Given the description of an element on the screen output the (x, y) to click on. 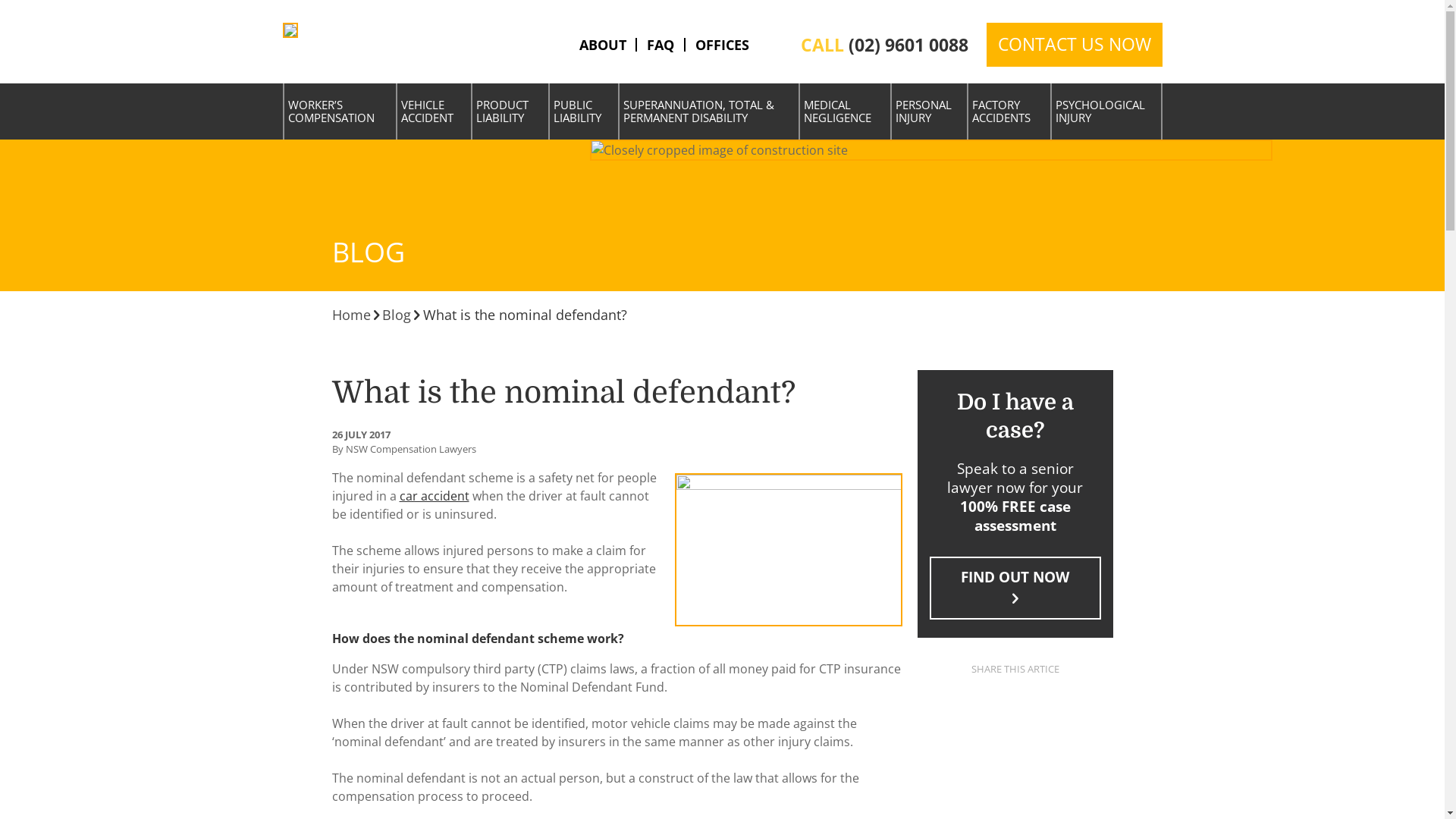
FACTORY ACCIDENTS Element type: text (1008, 111)
ABOUT Element type: text (602, 44)
car accident Element type: text (433, 495)
VEHICLE ACCIDENT Element type: text (434, 111)
MEDICAL NEGLIGENCE Element type: text (845, 111)
PRODUCT LIABILITY Element type: text (509, 111)
FIND OUT NOW Element type: text (1015, 587)
SUPERANNUATION, TOTAL & PERMANENT DISABILITY Element type: text (708, 111)
PUBLIC LIABILITY Element type: text (583, 111)
PERSONAL INJURY Element type: text (929, 111)
CONTACT US NOW Element type: text (1073, 44)
FAQ Element type: text (660, 44)
Home Element type: text (351, 314)
OFFICES Element type: text (722, 44)
PSYCHOLOGICAL INJURY Element type: text (1106, 111)
Skip to content Element type: text (325, 31)
Blog Element type: text (396, 314)
CALL (02) 9601 0088 Element type: text (884, 44)
NSW Compensation Lawyers Element type: hover (289, 29)
